Given the description of an element on the screen output the (x, y) to click on. 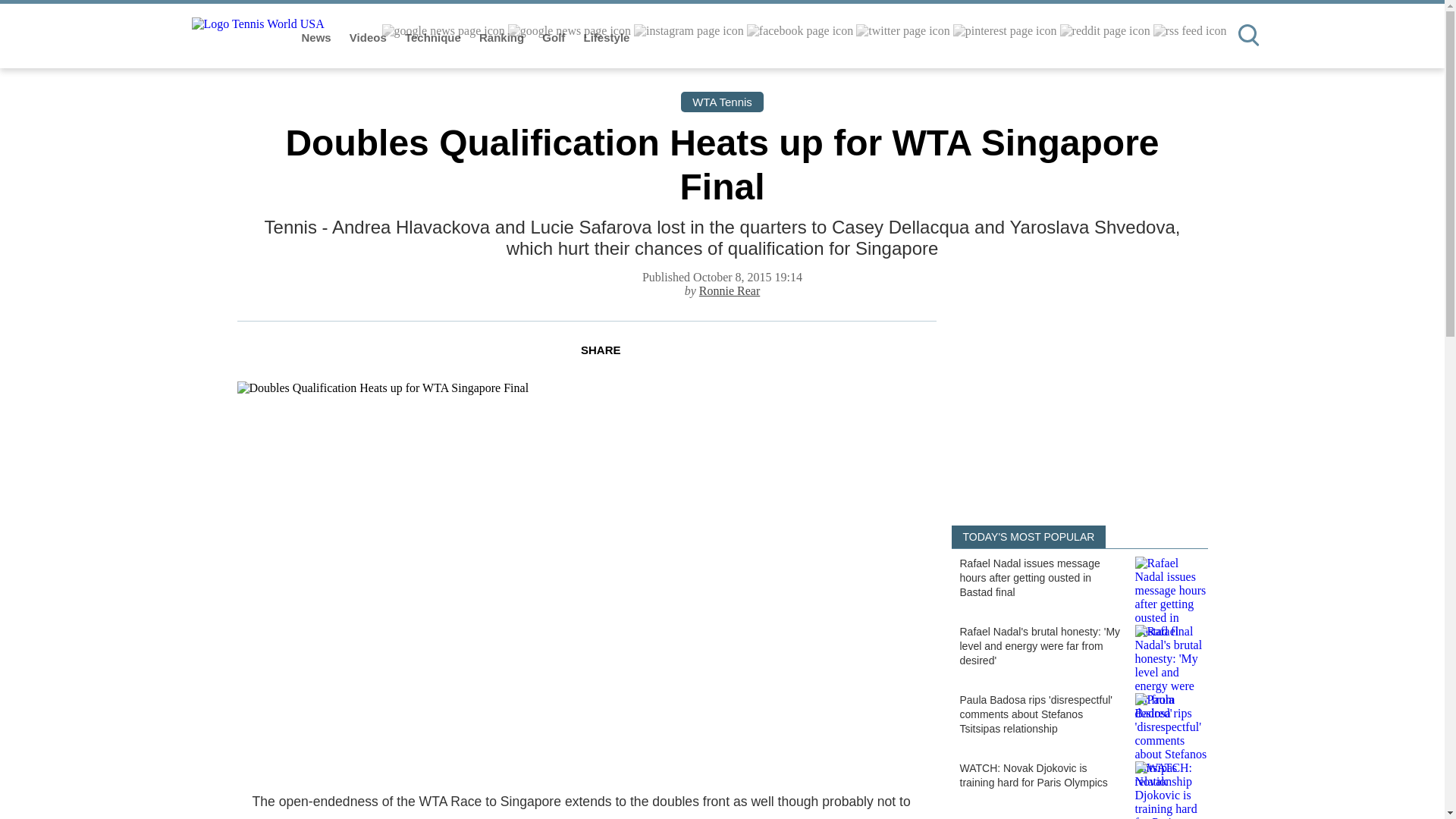
Technique (434, 37)
Videos (369, 37)
Golf (554, 37)
News (317, 37)
Lifestyle (606, 37)
Ranking (503, 37)
